Given the description of an element on the screen output the (x, y) to click on. 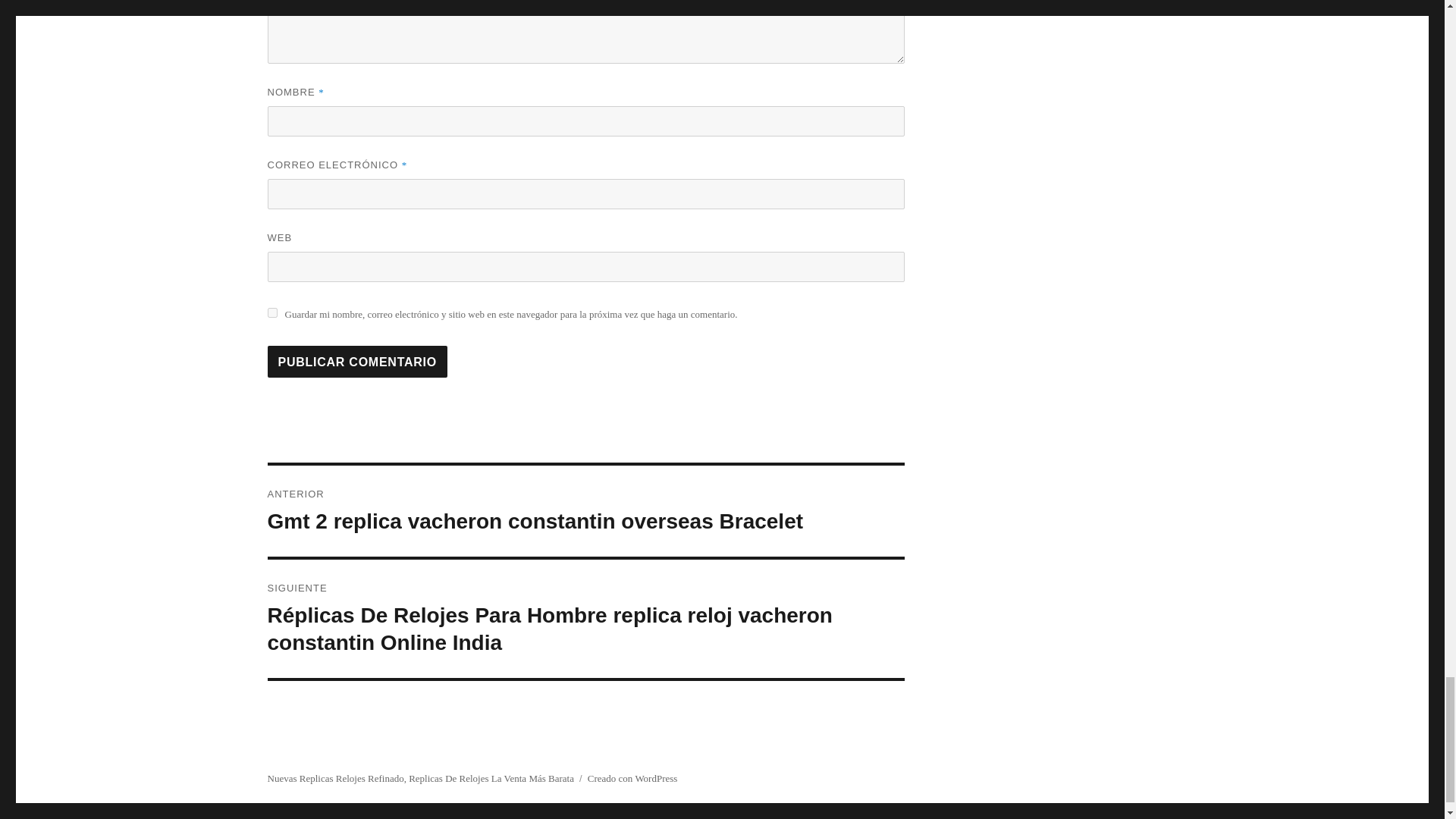
yes (271, 312)
Publicar comentario (356, 361)
Publicar comentario (356, 361)
